Given the description of an element on the screen output the (x, y) to click on. 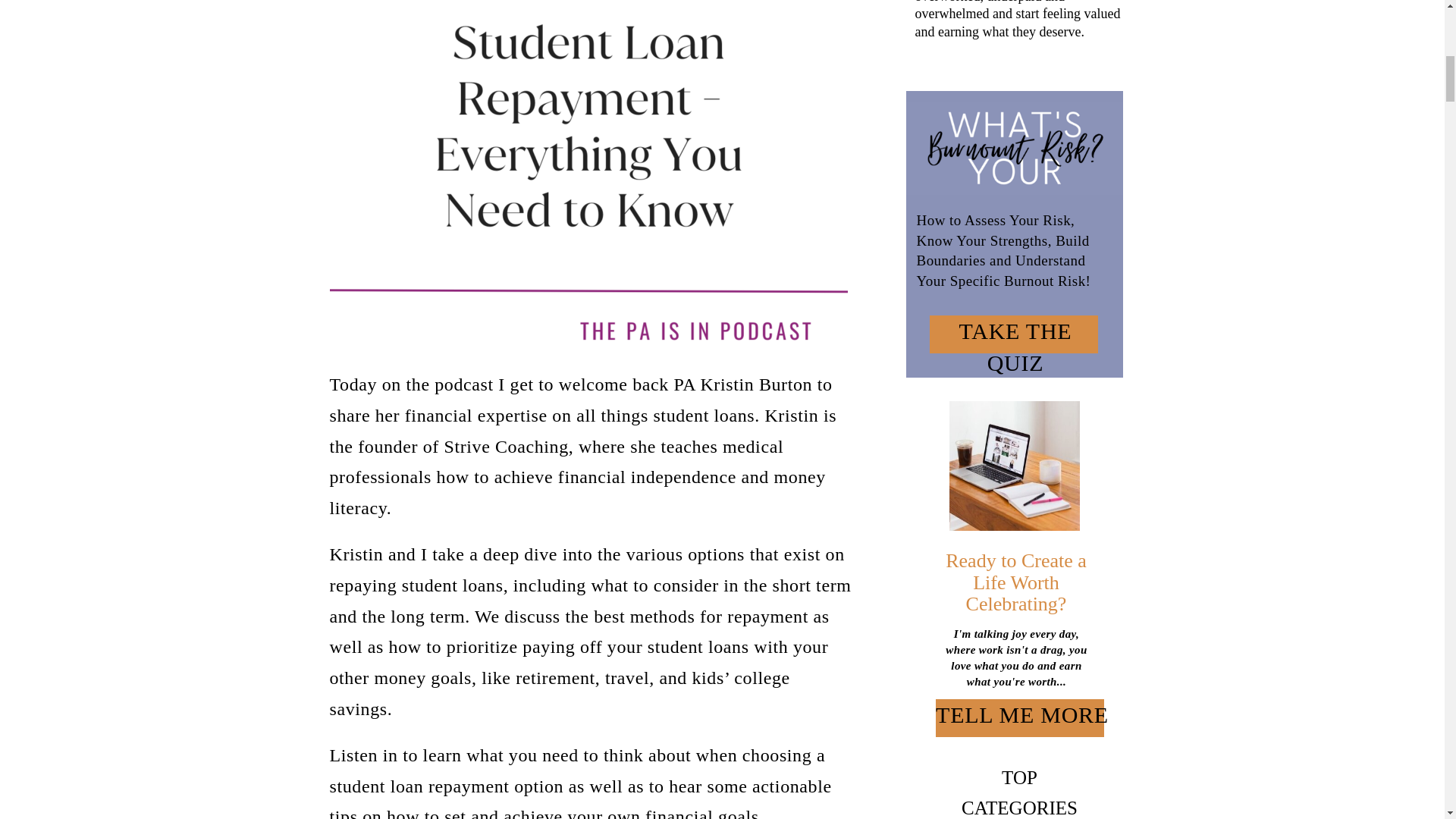
TELL ME MORE (1022, 718)
